Given the description of an element on the screen output the (x, y) to click on. 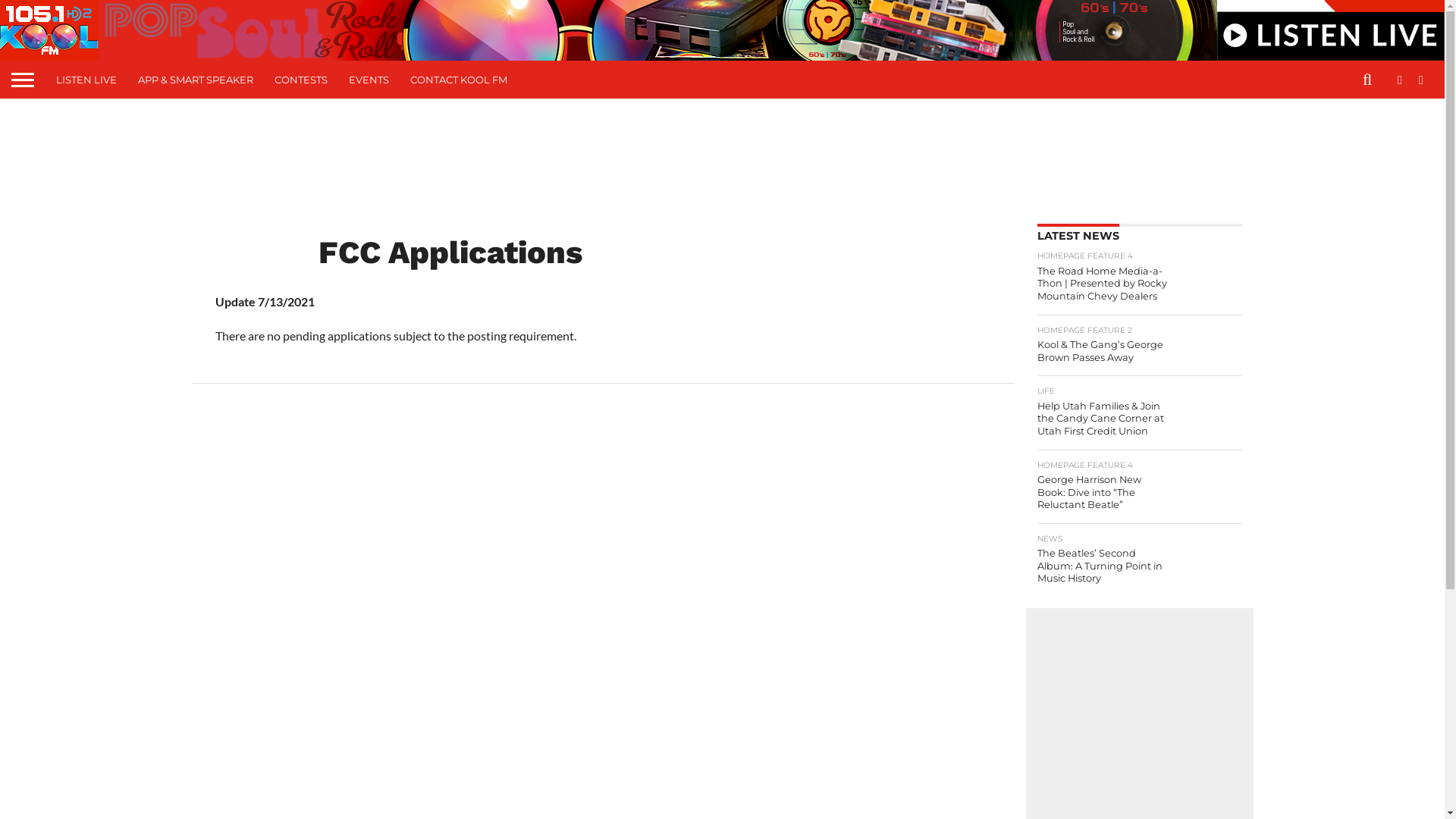
LISTEN LIVE Element type: text (86, 79)
CONTESTS Element type: text (300, 79)
Advertisement Element type: hover (721, 155)
EVENTS Element type: text (368, 79)
APP & SMART SPEAKER Element type: text (195, 79)
CONTACT KOOL FM Element type: text (458, 79)
